Given the description of an element on the screen output the (x, y) to click on. 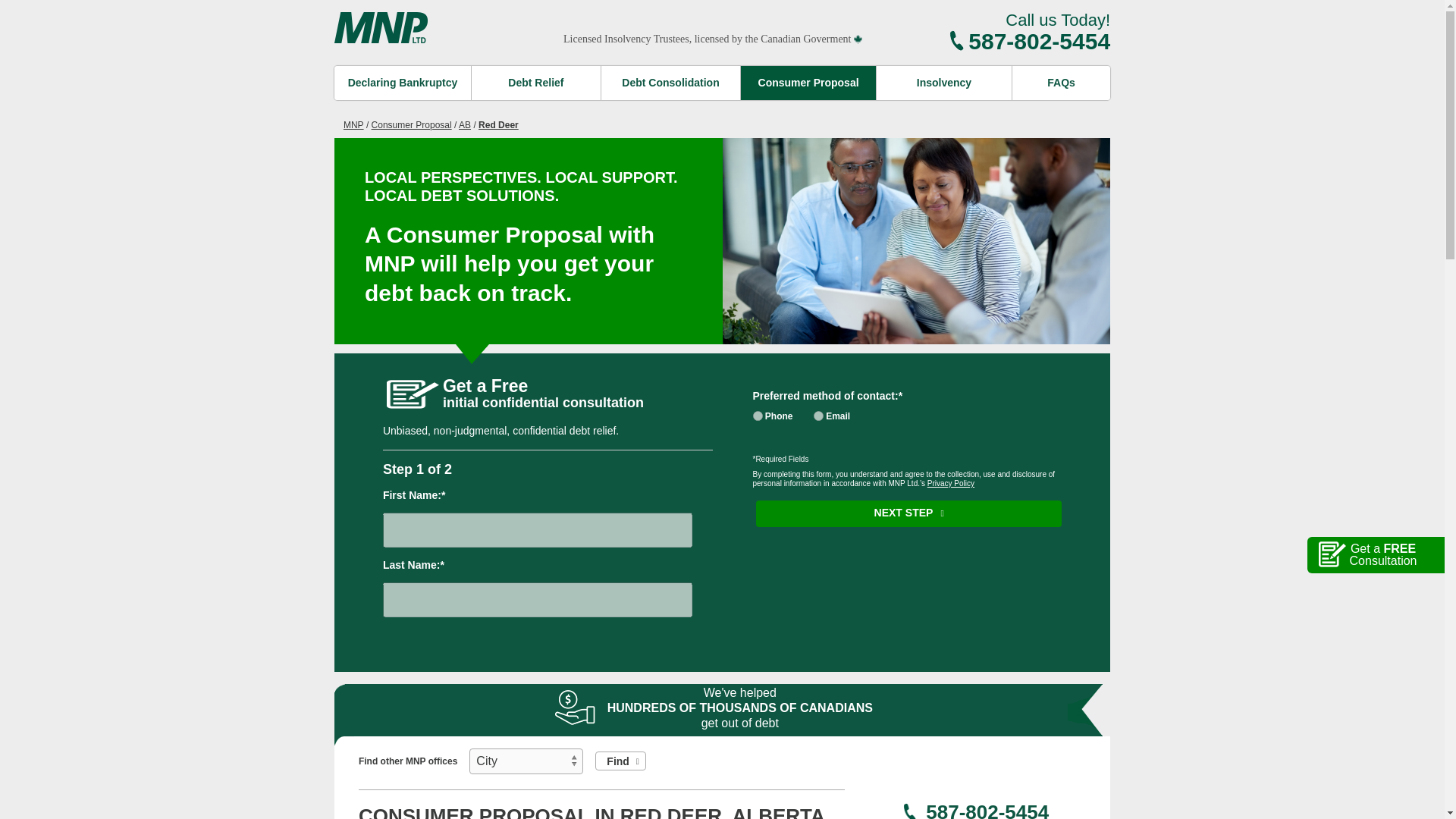
Consumer Proposal (808, 82)
MNP (353, 124)
FAQs (915, 32)
Debt Relief (1060, 82)
Declaring Bankruptcy (536, 82)
Phone (401, 82)
Insolvency (756, 415)
Debt Consolidation (943, 82)
Email (670, 82)
Privacy Policy (818, 415)
